Given the description of an element on the screen output the (x, y) to click on. 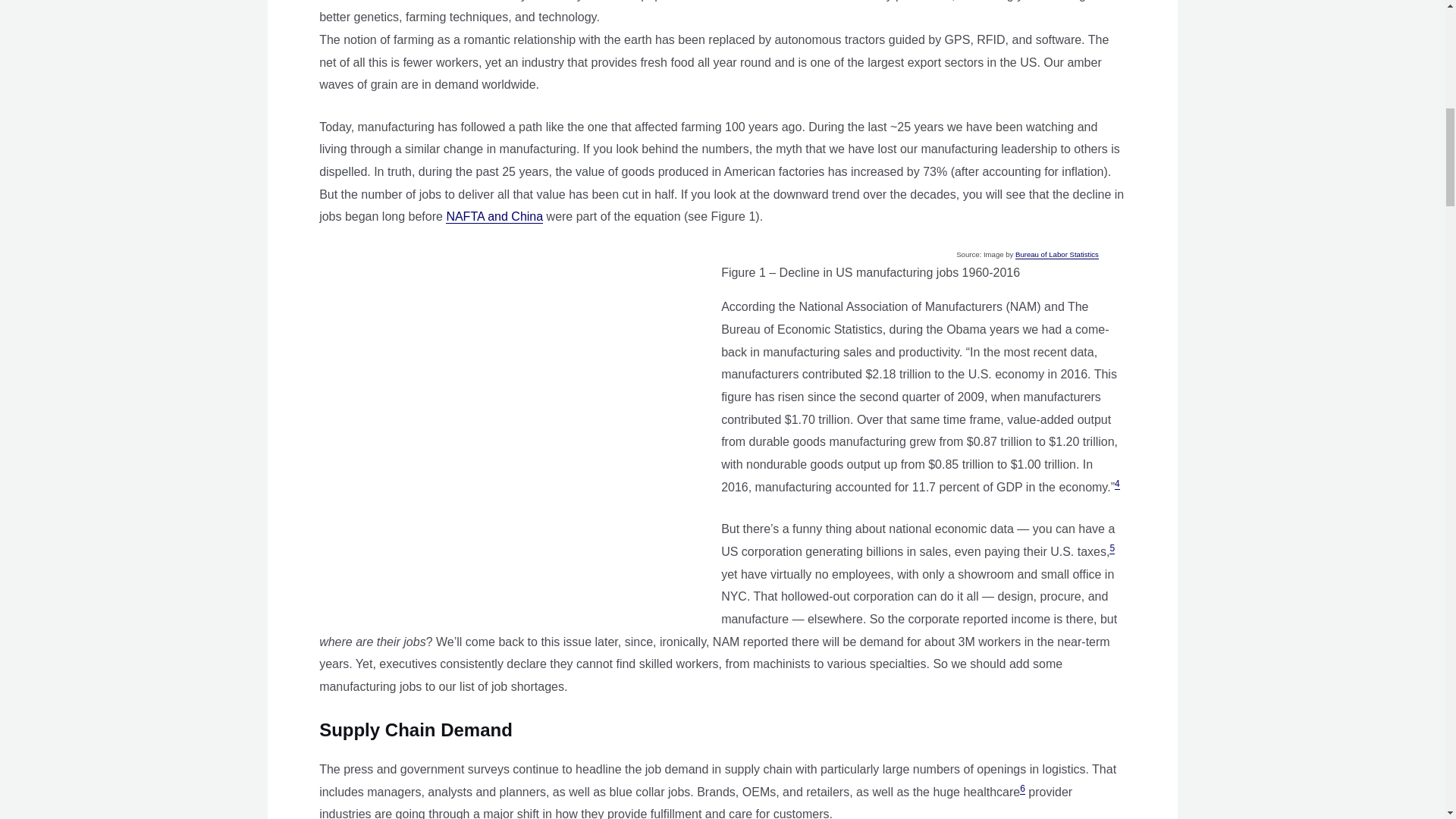
NAFTA and China (494, 216)
Bureau of Labor Statistics (1056, 254)
